Given the description of an element on the screen output the (x, y) to click on. 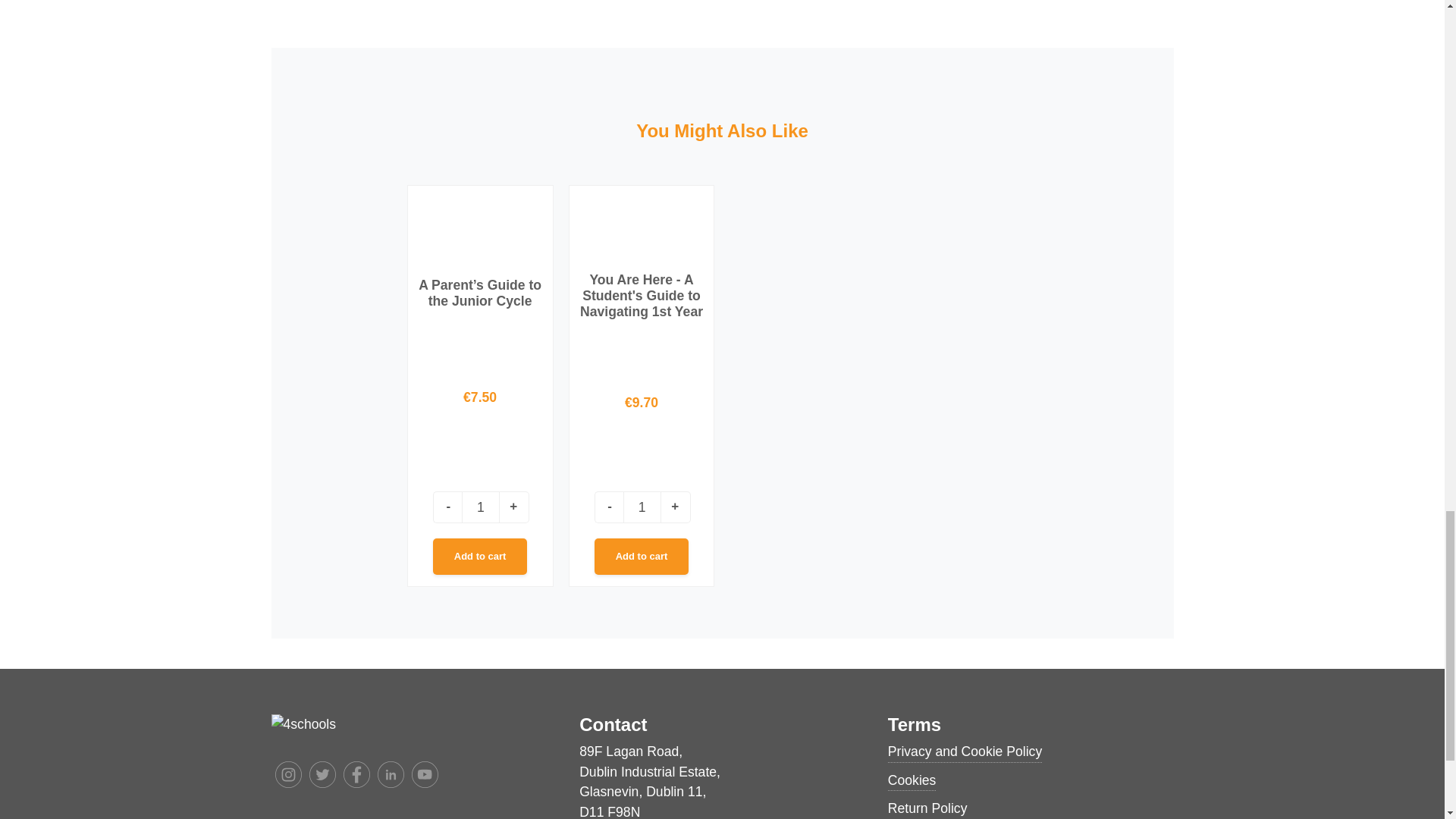
Follow us on Instagram (287, 774)
Follow us on LinkedIn (389, 774)
Add to cart (479, 556)
Follow us on Twitter (321, 774)
Follow us on Facebook (356, 774)
4Schools LinkedIn Account (390, 774)
4Schools-youtube4Schools YouTube Account (424, 774)
Add to cart (641, 556)
4Schools Instagram Account (288, 774)
4Schools Twitter Account (322, 774)
1 (642, 507)
4Schools Facebook Account (355, 774)
1 (480, 507)
Follow us on YouTube (424, 774)
